Given the description of an element on the screen output the (x, y) to click on. 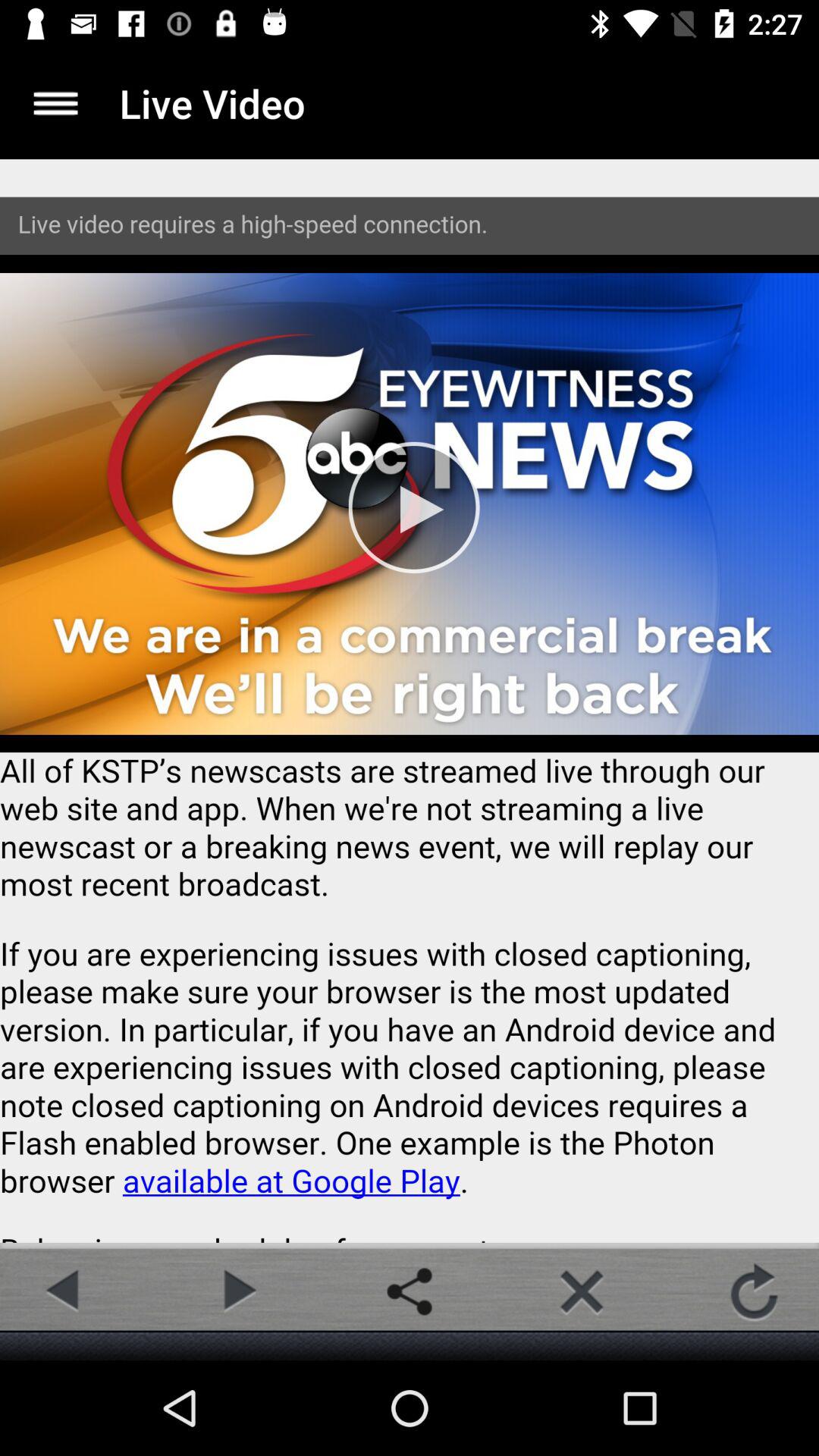
close button (581, 1291)
